Given the description of an element on the screen output the (x, y) to click on. 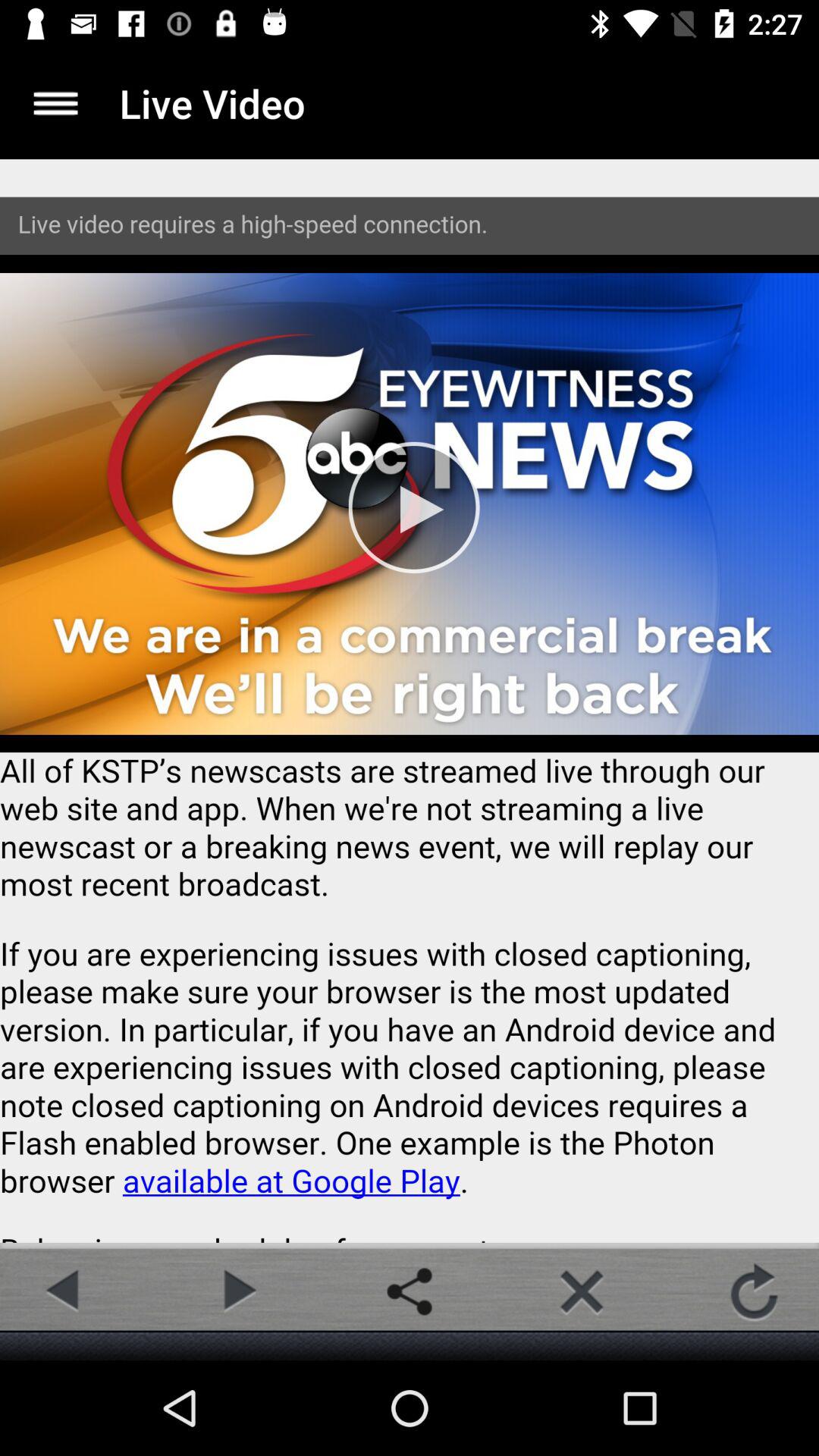
close button (581, 1291)
